Given the description of an element on the screen output the (x, y) to click on. 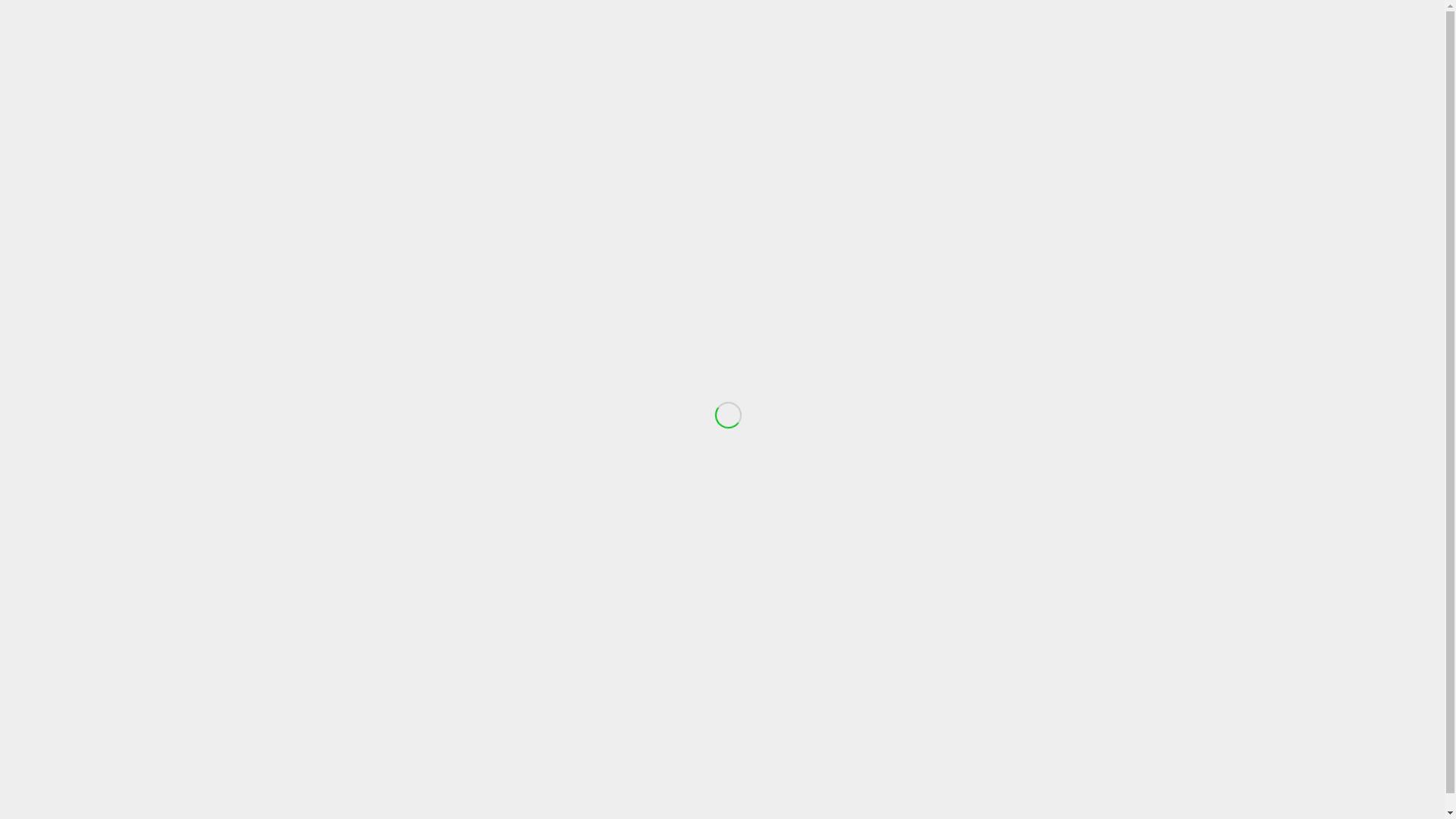
HOME Element type: text (704, 52)
LOOPBAANCOACHING Element type: text (885, 52)
CONTACTEER ONS NU! Element type: text (581, 587)
BLOG Element type: text (1129, 52)
INFO@AANZET-COACHING.BE Element type: text (933, 10)
info@aanzet-coaching.be Element type: text (385, 624)
STUDIEKEUZE Element type: text (993, 52)
Waarom werken aan je loopbaan na je 55ste Element type: text (1057, 640)
OVER AANZET Element type: text (775, 52)
Privacyverklaring Element type: text (833, 724)
Uneek Concepts Element type: text (421, 724)
CONTACT Element type: text (1071, 52)
